Given the description of an element on the screen output the (x, y) to click on. 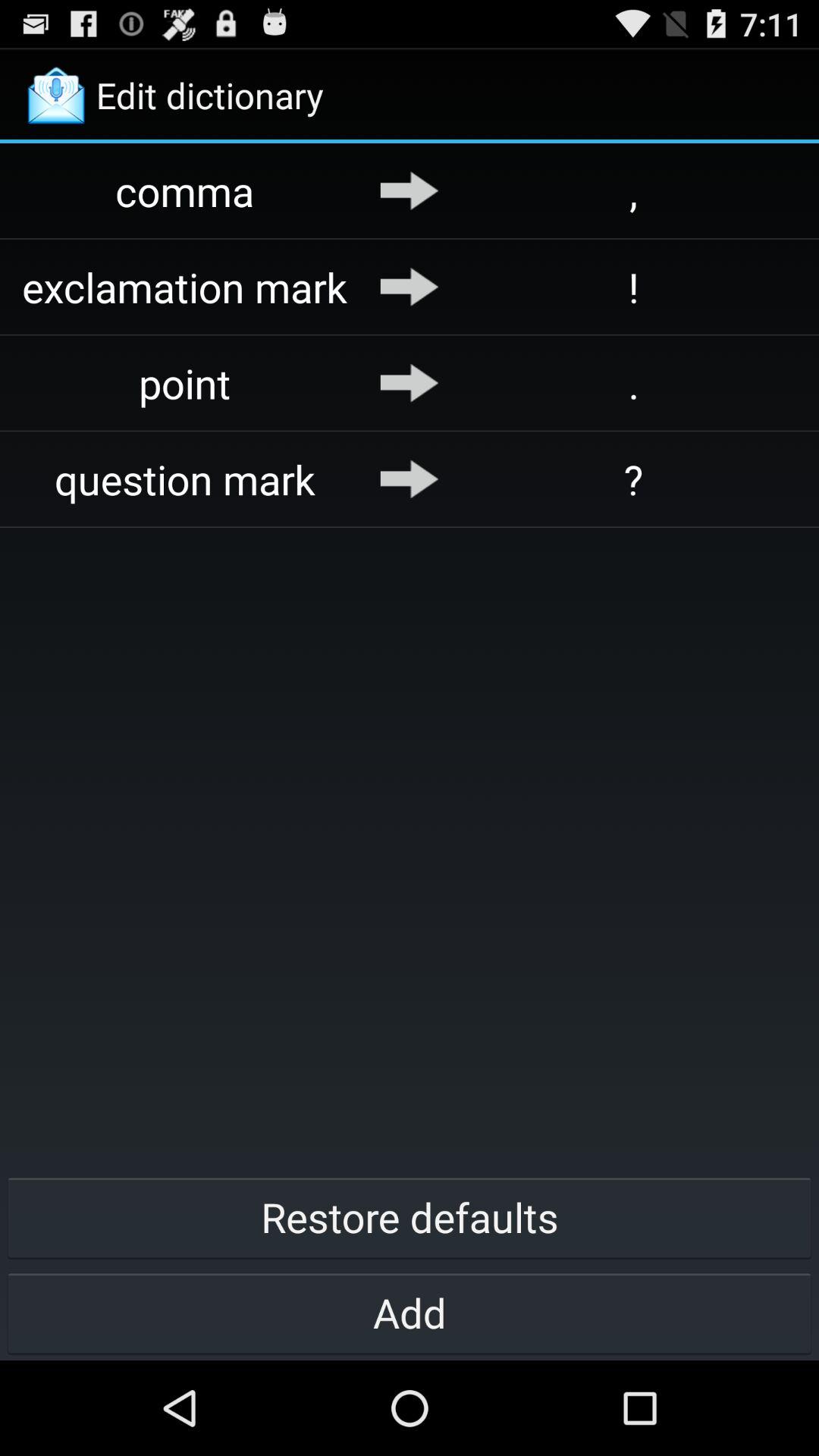
tap the icon next to ! app (409, 286)
